Given the description of an element on the screen output the (x, y) to click on. 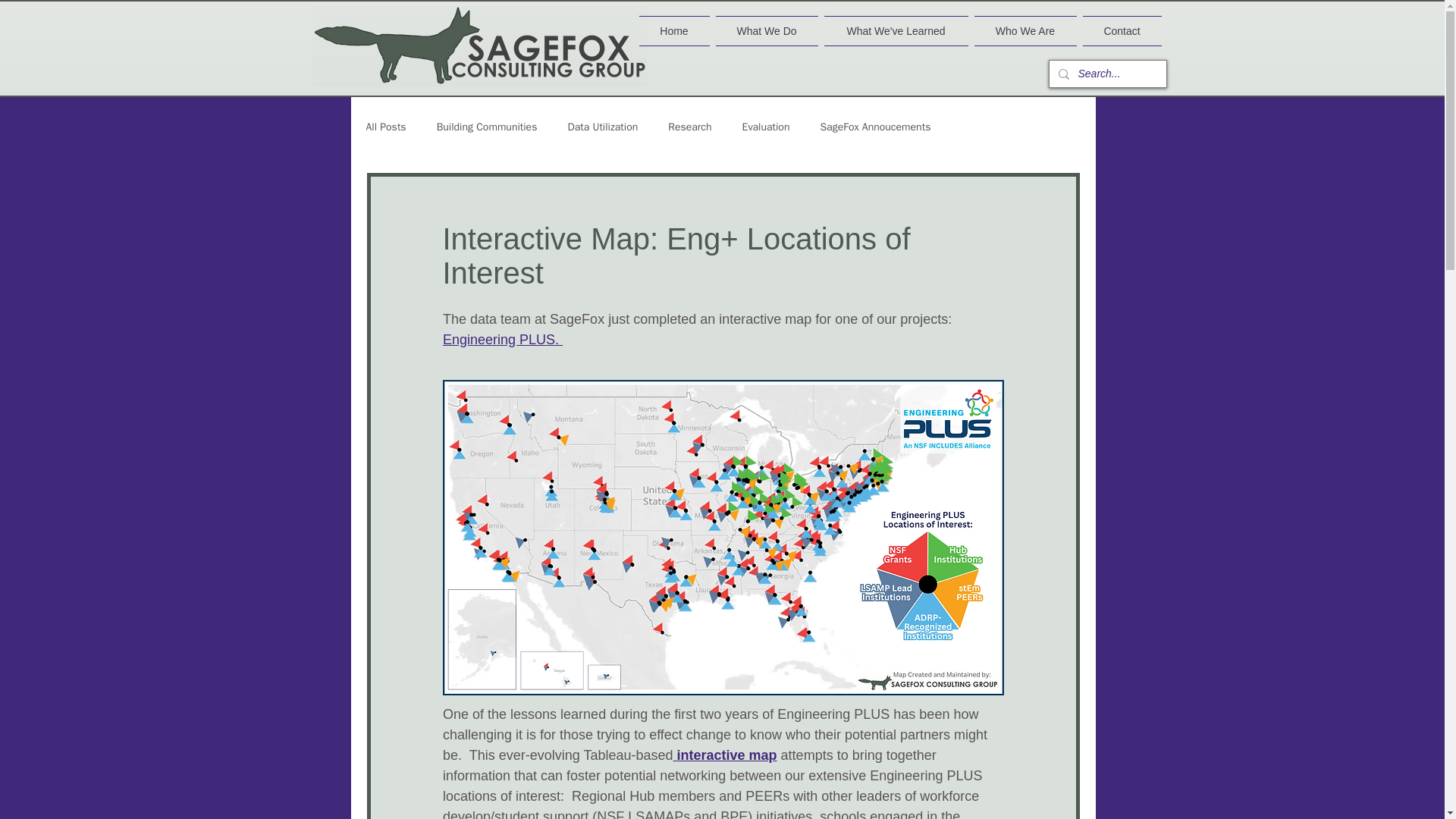
Building Communities (486, 127)
 interactive map (724, 754)
Who We Are (1024, 30)
Evaluation (766, 127)
What We've Learned (896, 30)
SageFox Annoucements (874, 127)
Contact (1120, 30)
Home (675, 30)
Data Utilization (602, 127)
Engineering PLUS.  (502, 339)
